Given the description of an element on the screen output the (x, y) to click on. 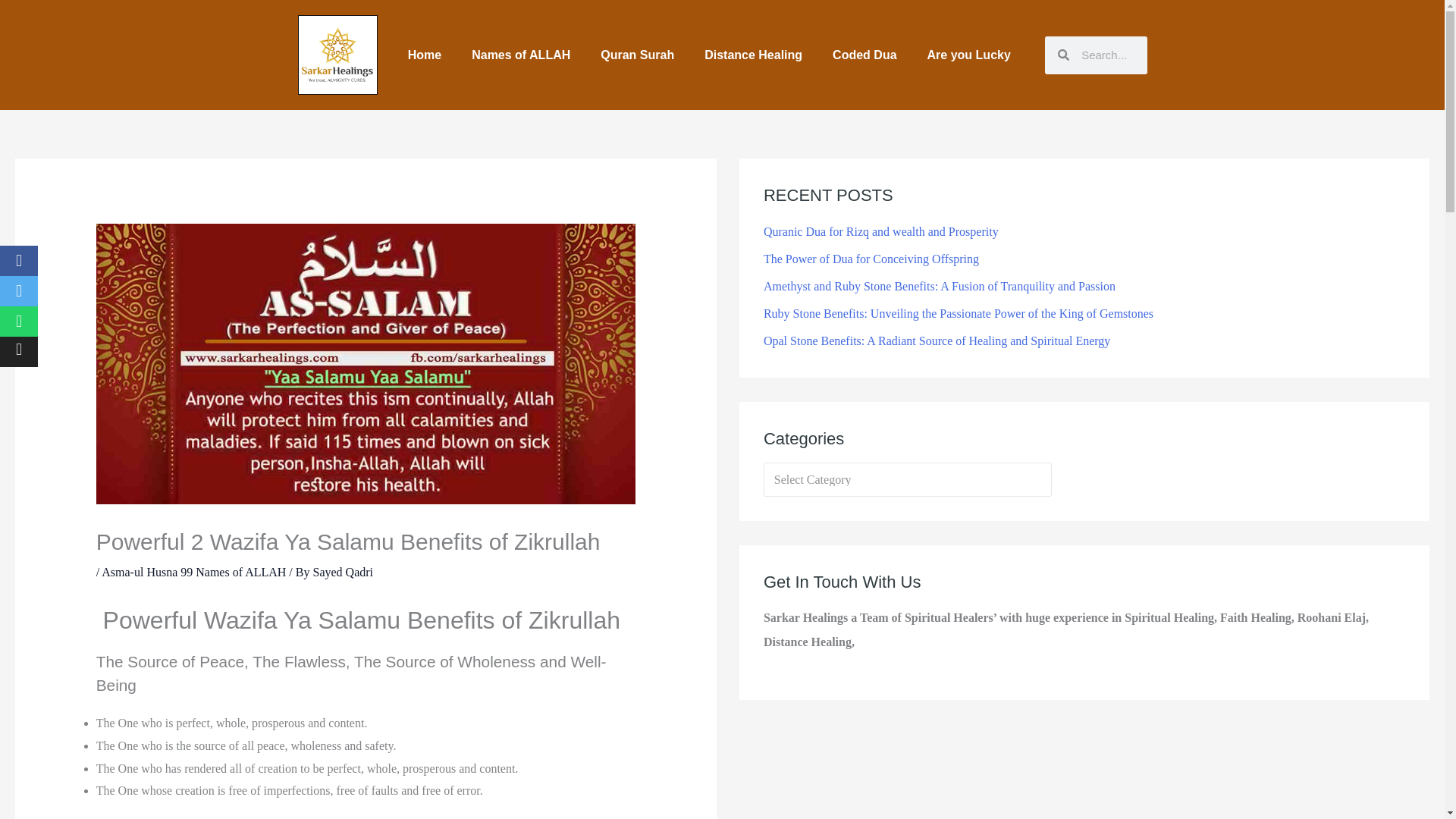
Quranic Dua for Rizq and wealth and Prosperity (880, 231)
Distance Healing (752, 54)
Quran Surah (636, 54)
Asma-ul Husna 99 Names of ALLAH (193, 571)
The Power of Dua for Conceiving Offspring (870, 258)
Are you Lucky (969, 54)
Coded Dua (863, 54)
Home (425, 54)
Sayed Qadri (342, 571)
Names of ALLAH (521, 54)
View all posts by Sayed Qadri (342, 571)
